Given the description of an element on the screen output the (x, y) to click on. 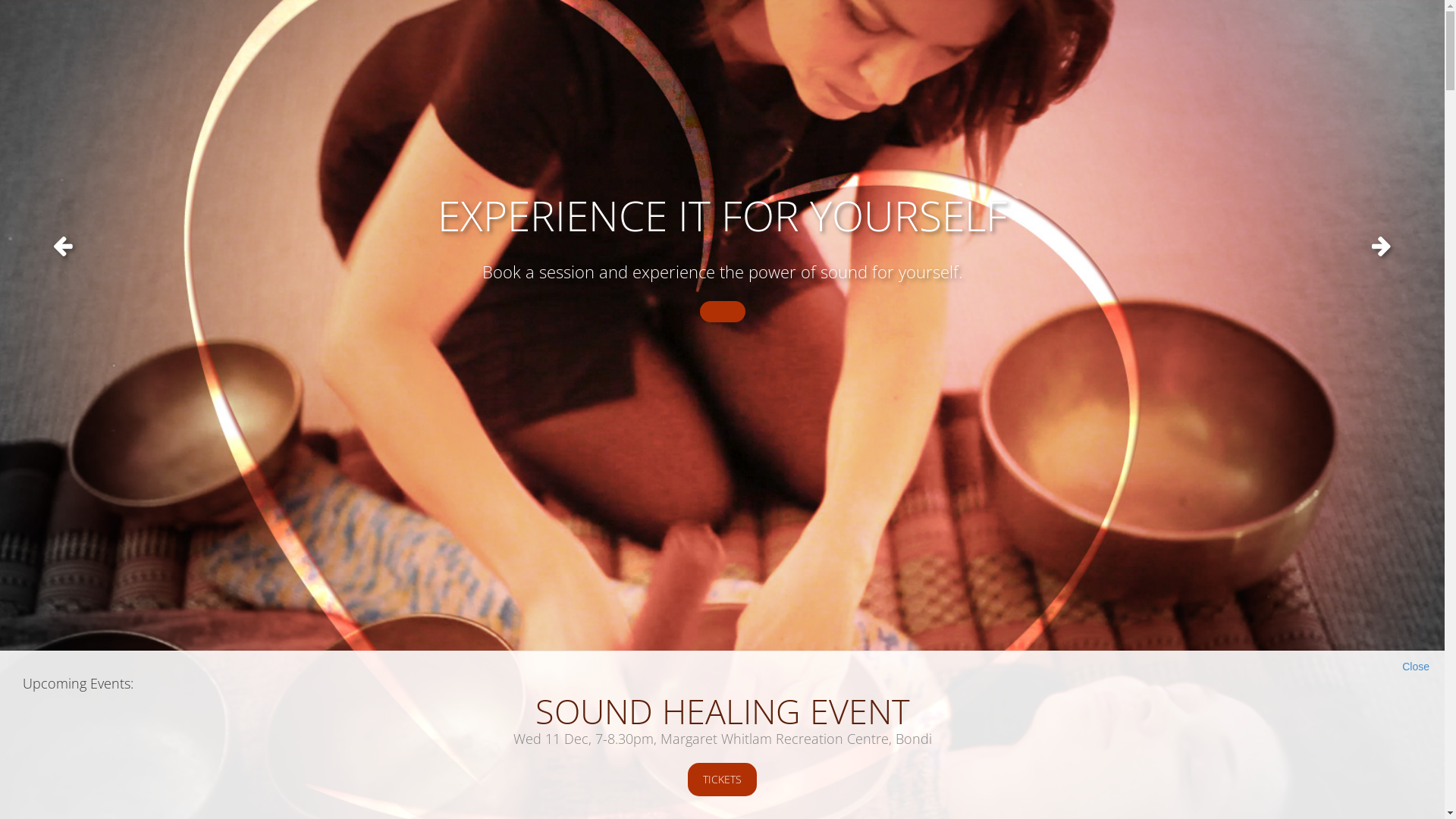
Close Element type: text (1415, 665)
TICKETS Element type: text (721, 779)
